Given the description of an element on the screen output the (x, y) to click on. 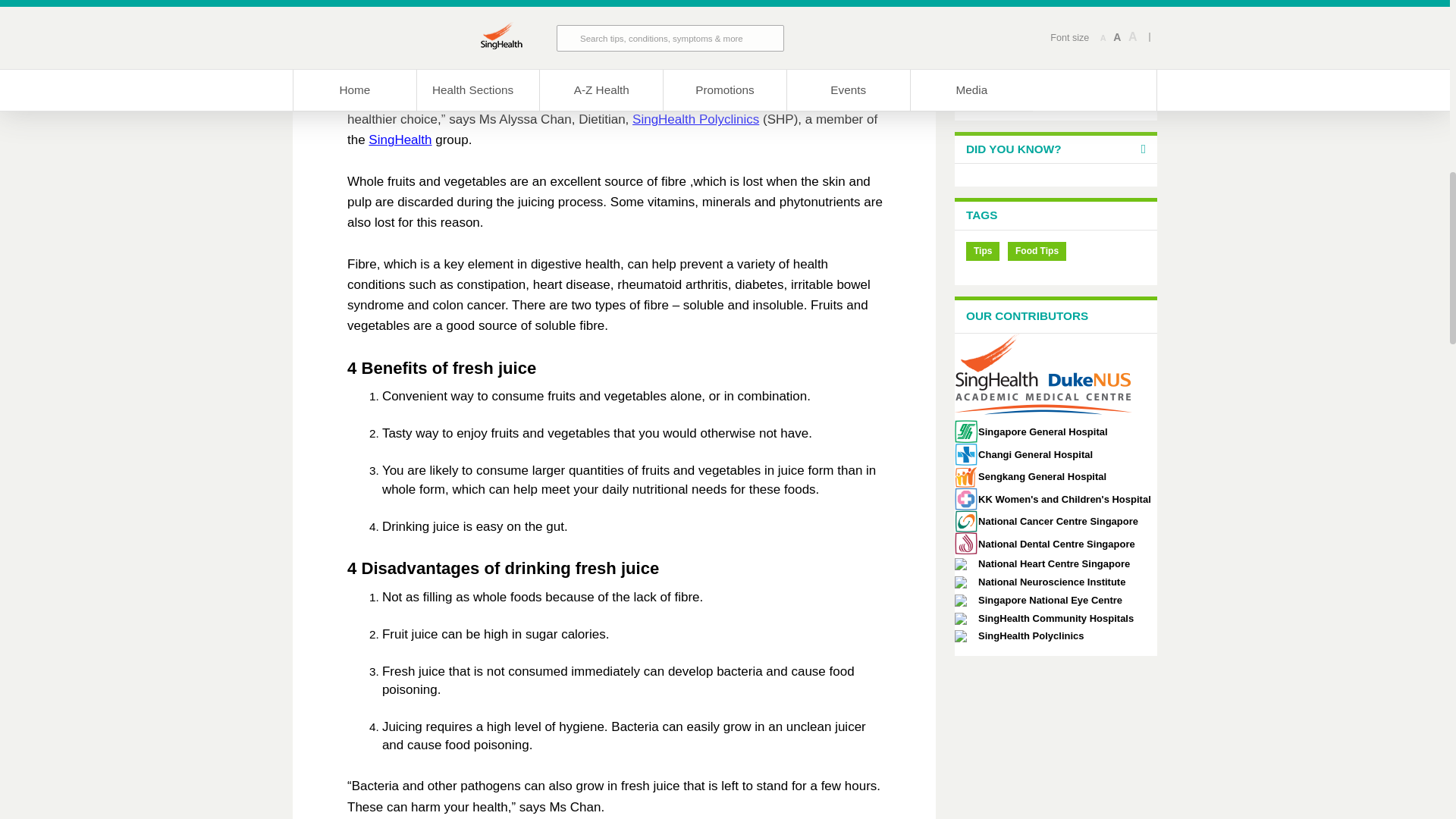
SingHealth (399, 139)
SingHealth Polyclinics (694, 119)
